Given the description of an element on the screen output the (x, y) to click on. 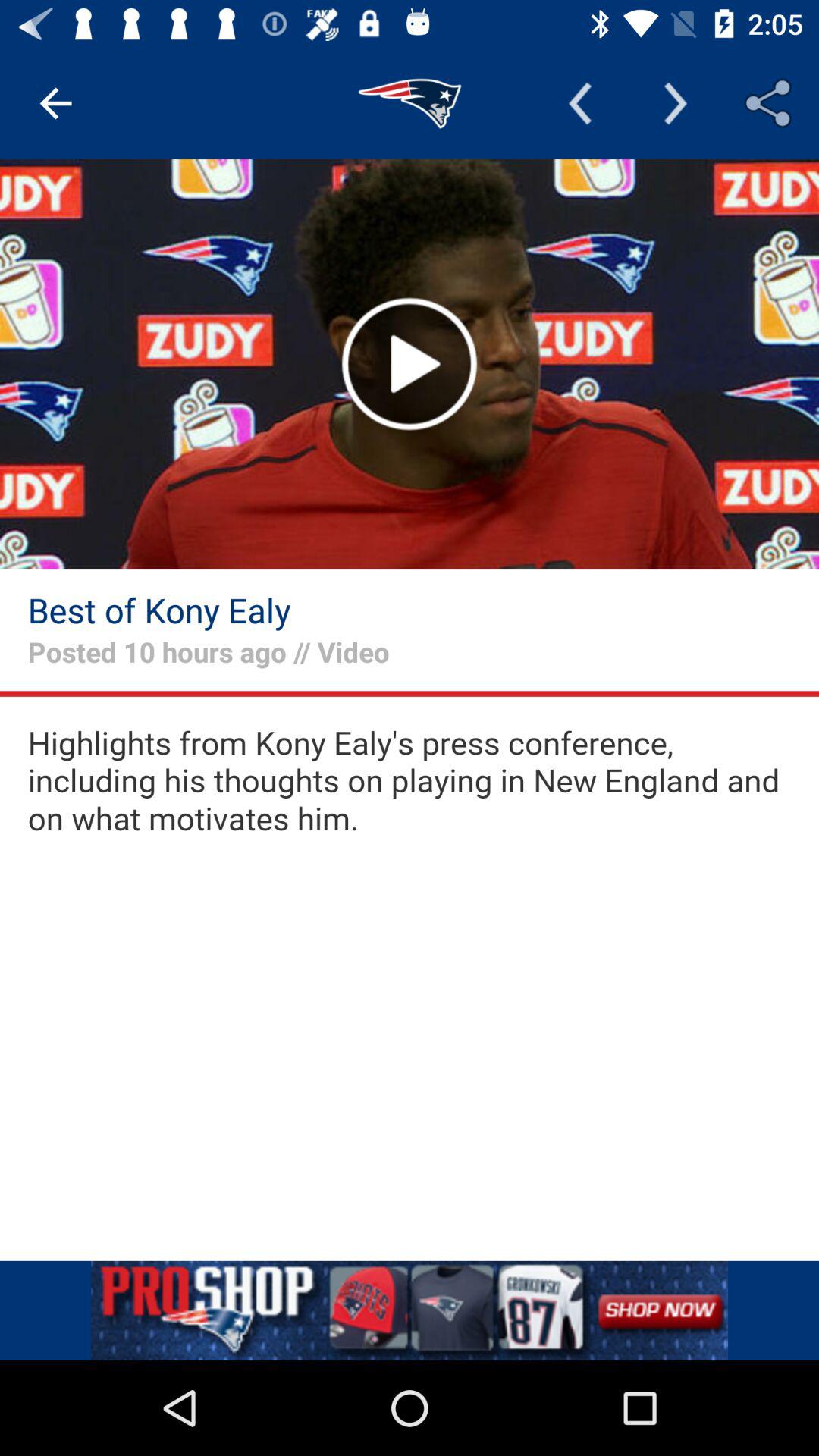
video text preview (409, 780)
